Given the description of an element on the screen output the (x, y) to click on. 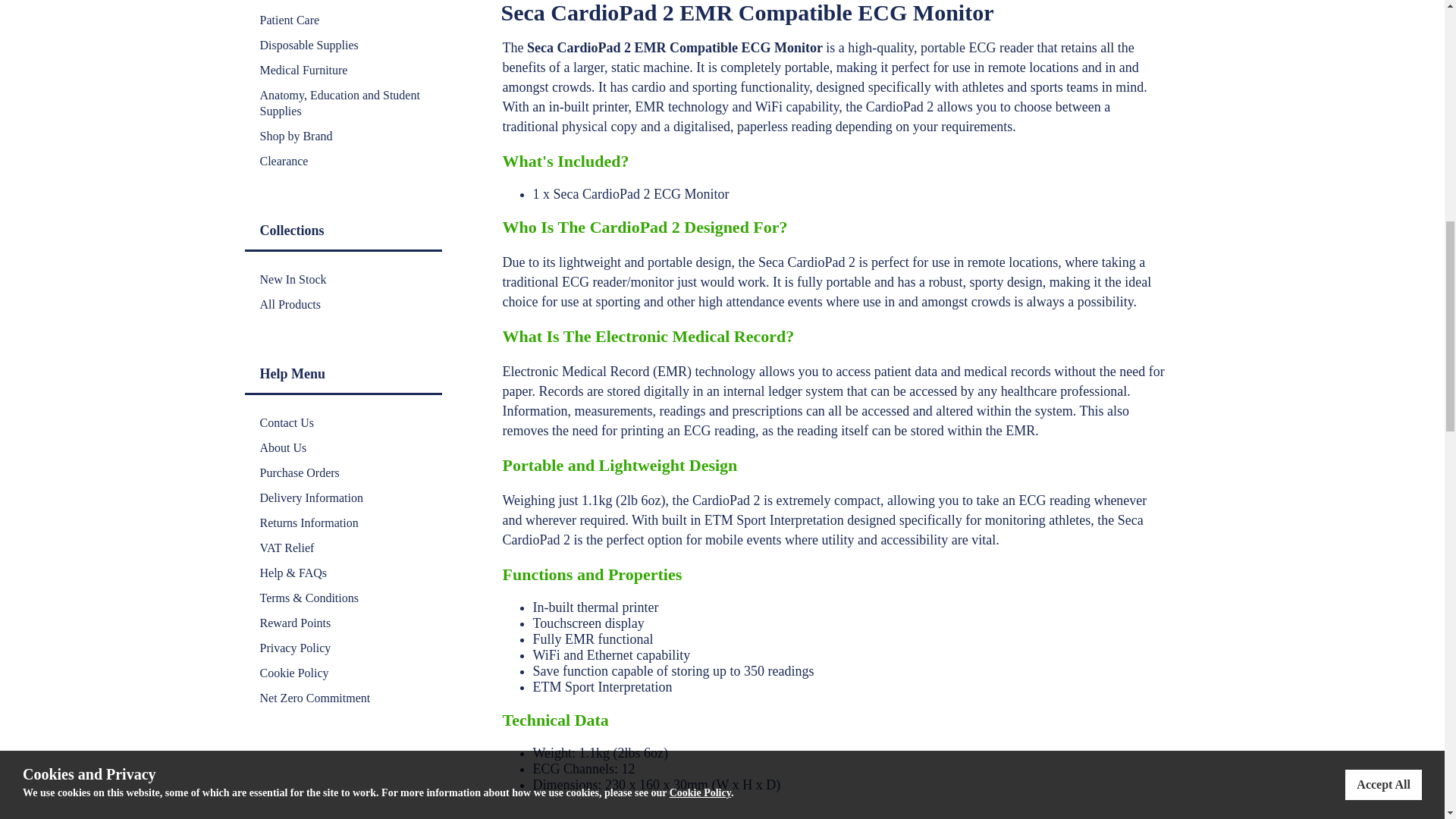
Reward Points (342, 622)
Cookie Policy (342, 672)
Medical Furniture (342, 69)
Disposable Supplies (342, 44)
All Products (342, 303)
About Us (342, 447)
Ultrasound (299, 3)
VAT Relief (342, 547)
Patient Care (342, 19)
Privacy Policy (342, 647)
